Given the description of an element on the screen output the (x, y) to click on. 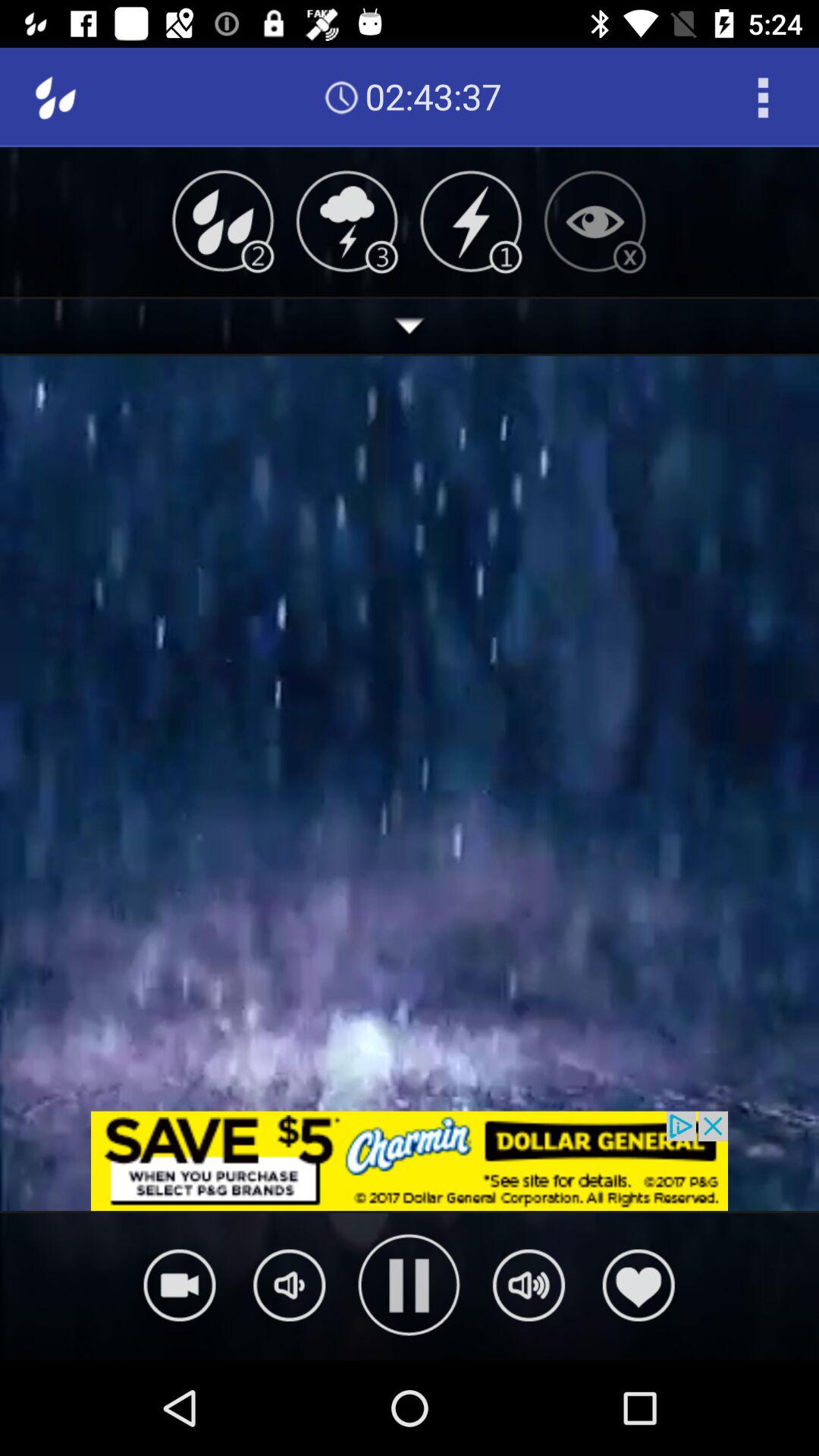
flip to 02:43:36 icon (433, 97)
